Given the description of an element on the screen output the (x, y) to click on. 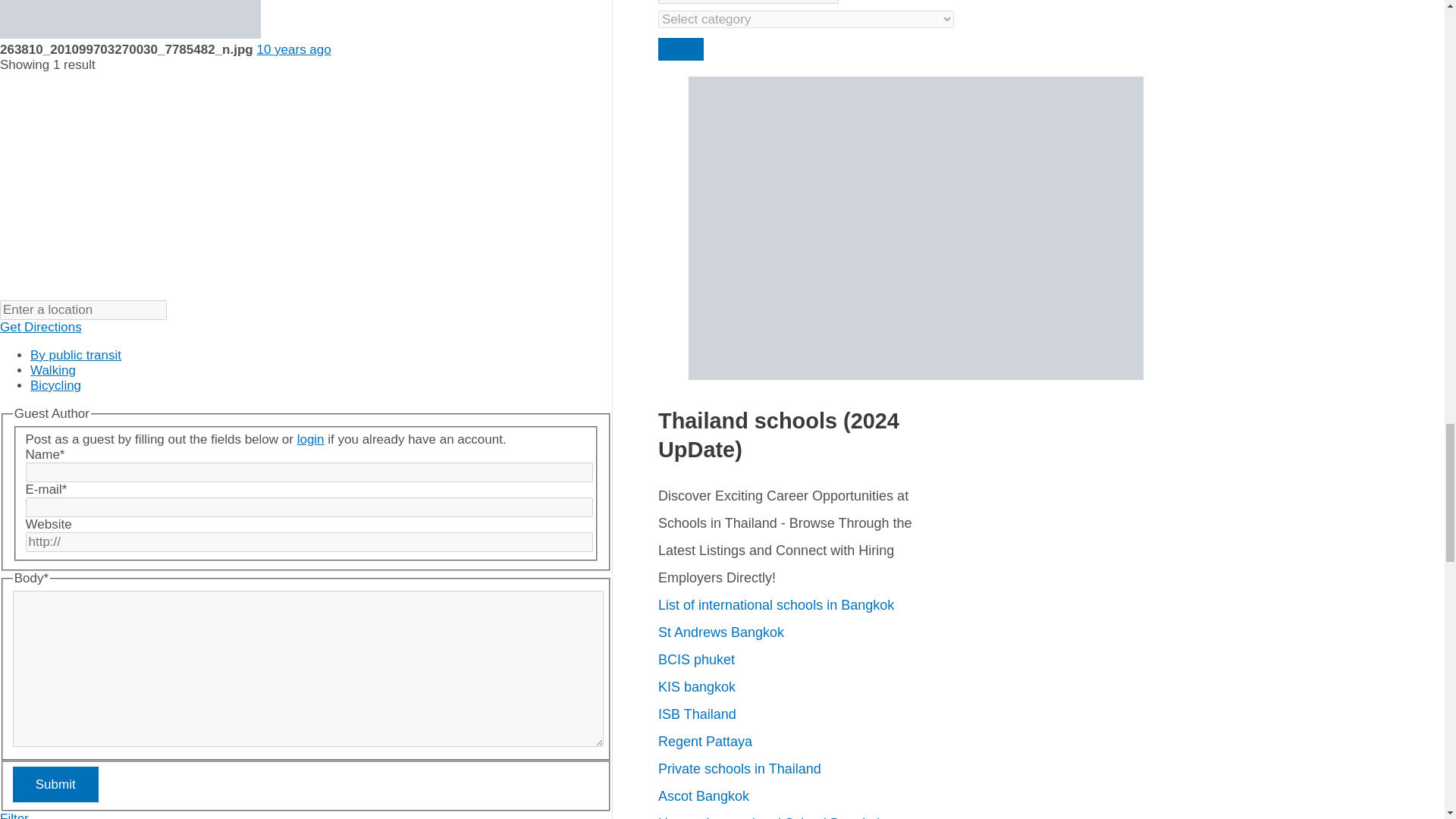
Submit (56, 784)
